Given the description of an element on the screen output the (x, y) to click on. 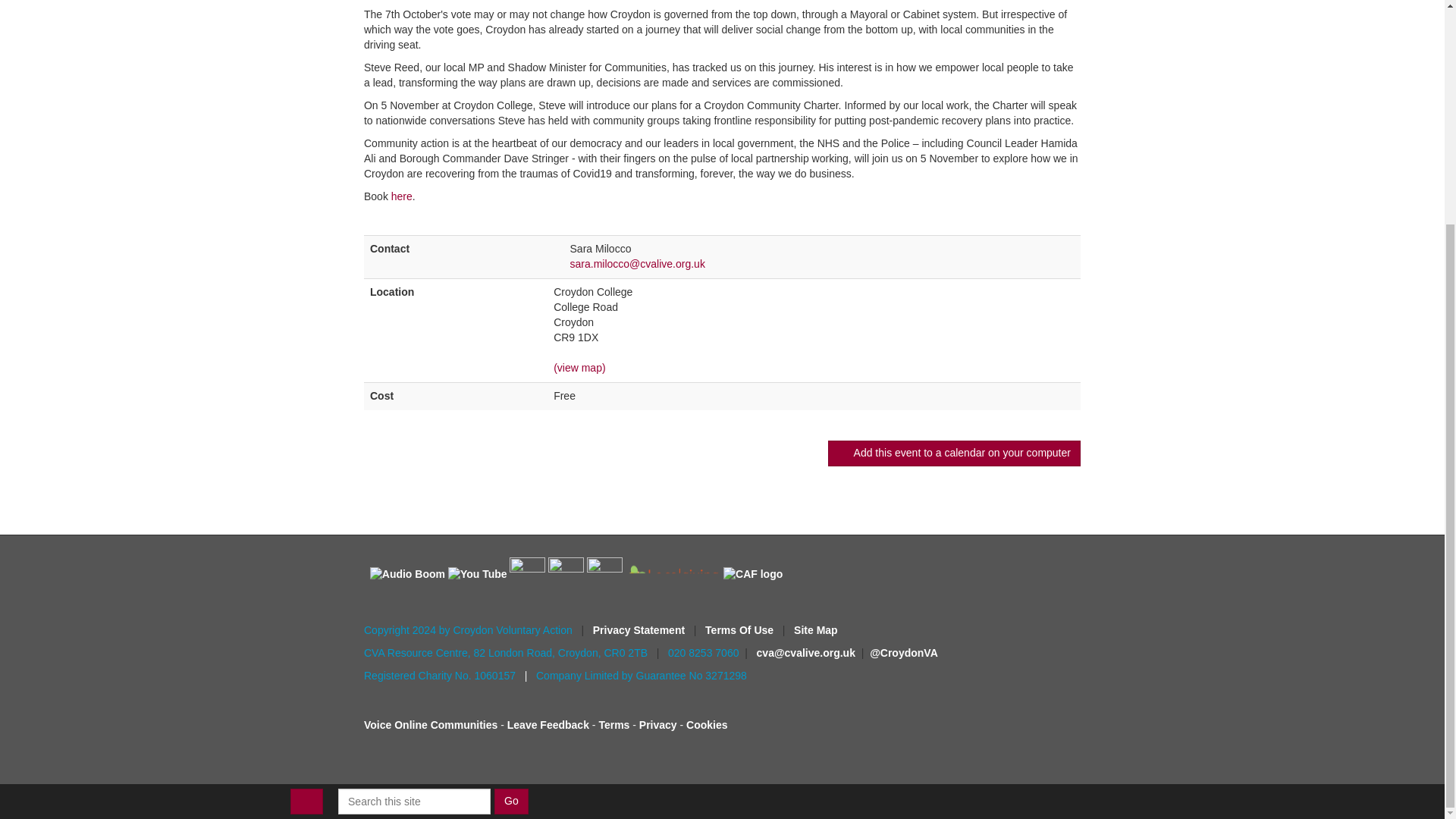
here (401, 196)
Privacy Statement (639, 630)
User menu (306, 501)
Site Map (815, 630)
Email (560, 264)
Leave Feedback (547, 725)
Twitter link (903, 653)
Flickr (526, 574)
Twitter (604, 574)
Mailchimp (565, 574)
